Given the description of an element on the screen output the (x, y) to click on. 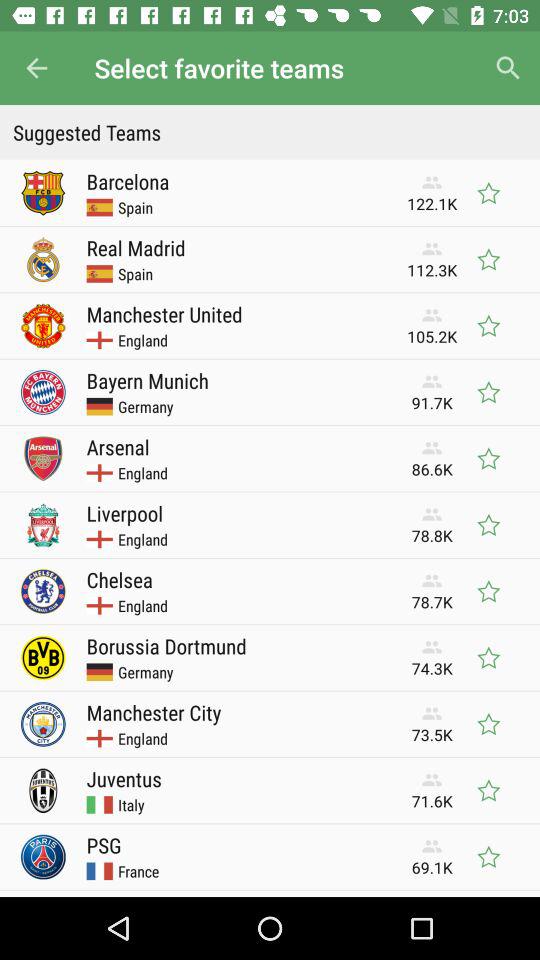
launch the suggested teams icon (270, 132)
